Given the description of an element on the screen output the (x, y) to click on. 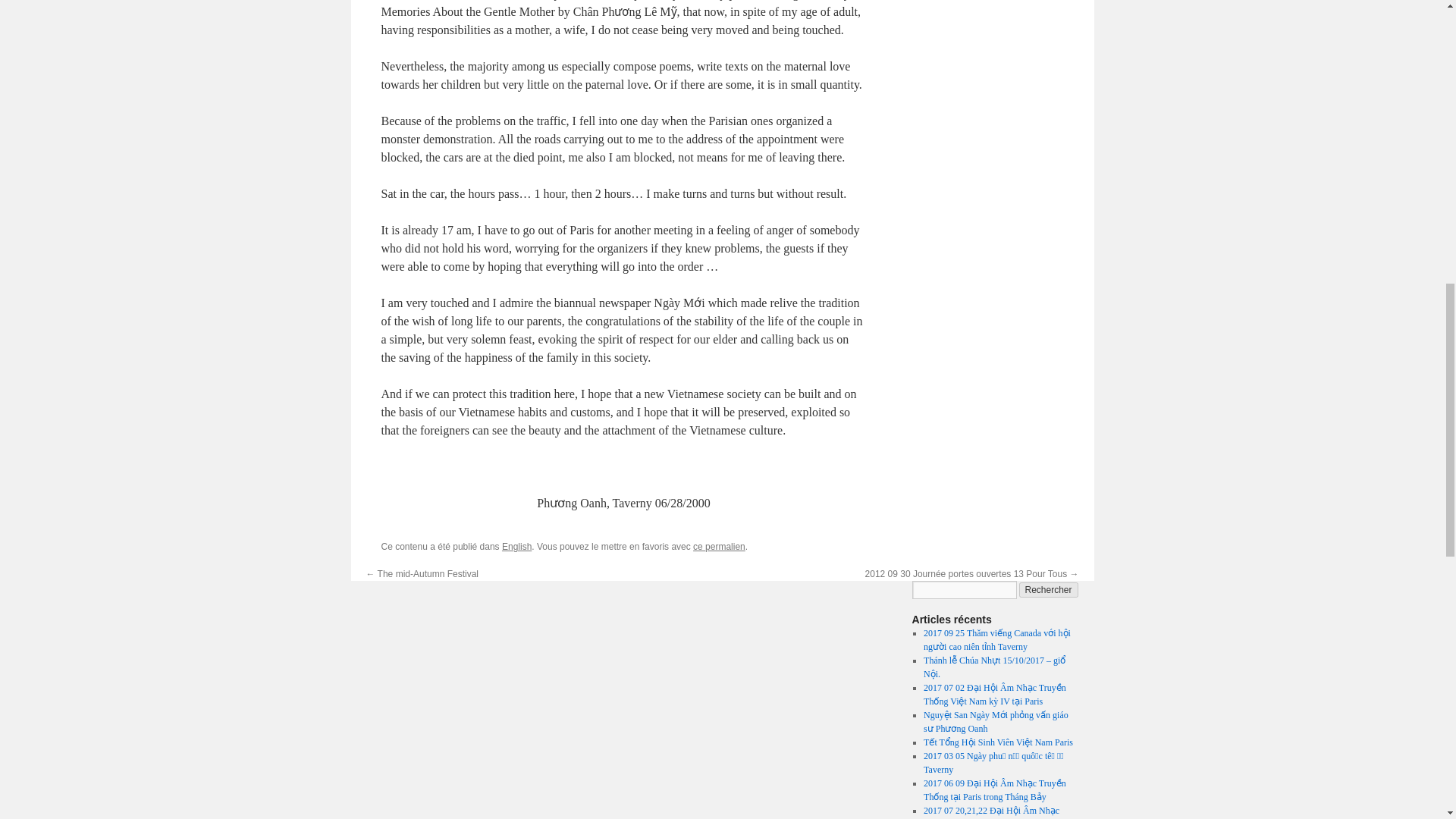
Rechercher (1048, 589)
English (516, 546)
Rechercher (1048, 589)
ce permalien (719, 546)
Permalien pour Echoes Of the Day Of the Old People (719, 546)
